Given the description of an element on the screen output the (x, y) to click on. 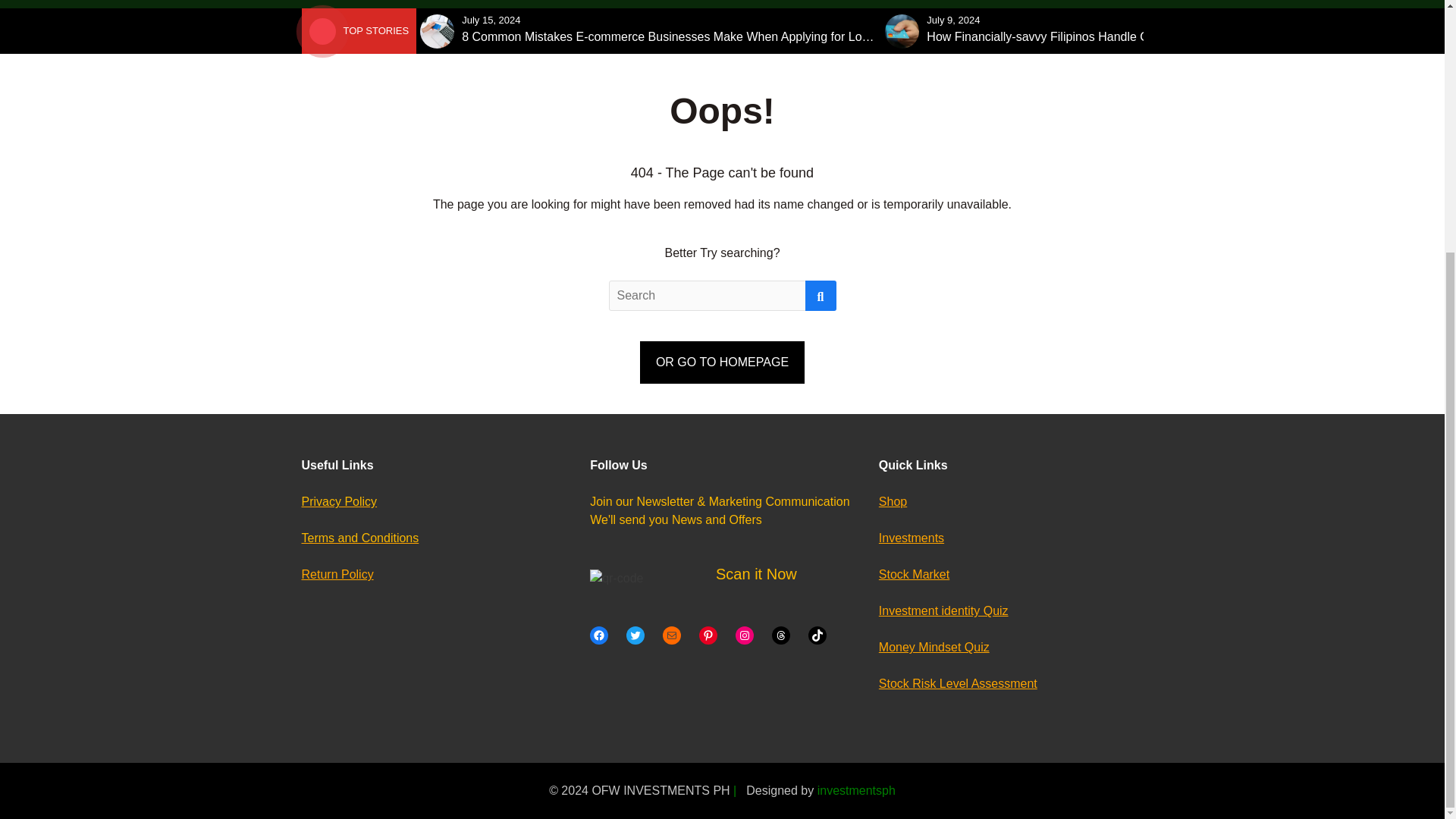
July 9, 2024 (952, 19)
July 15, 2024 (490, 19)
How Financially-savvy Filipinos Handle Credit Card Myths (1081, 36)
